Given the description of an element on the screen output the (x, y) to click on. 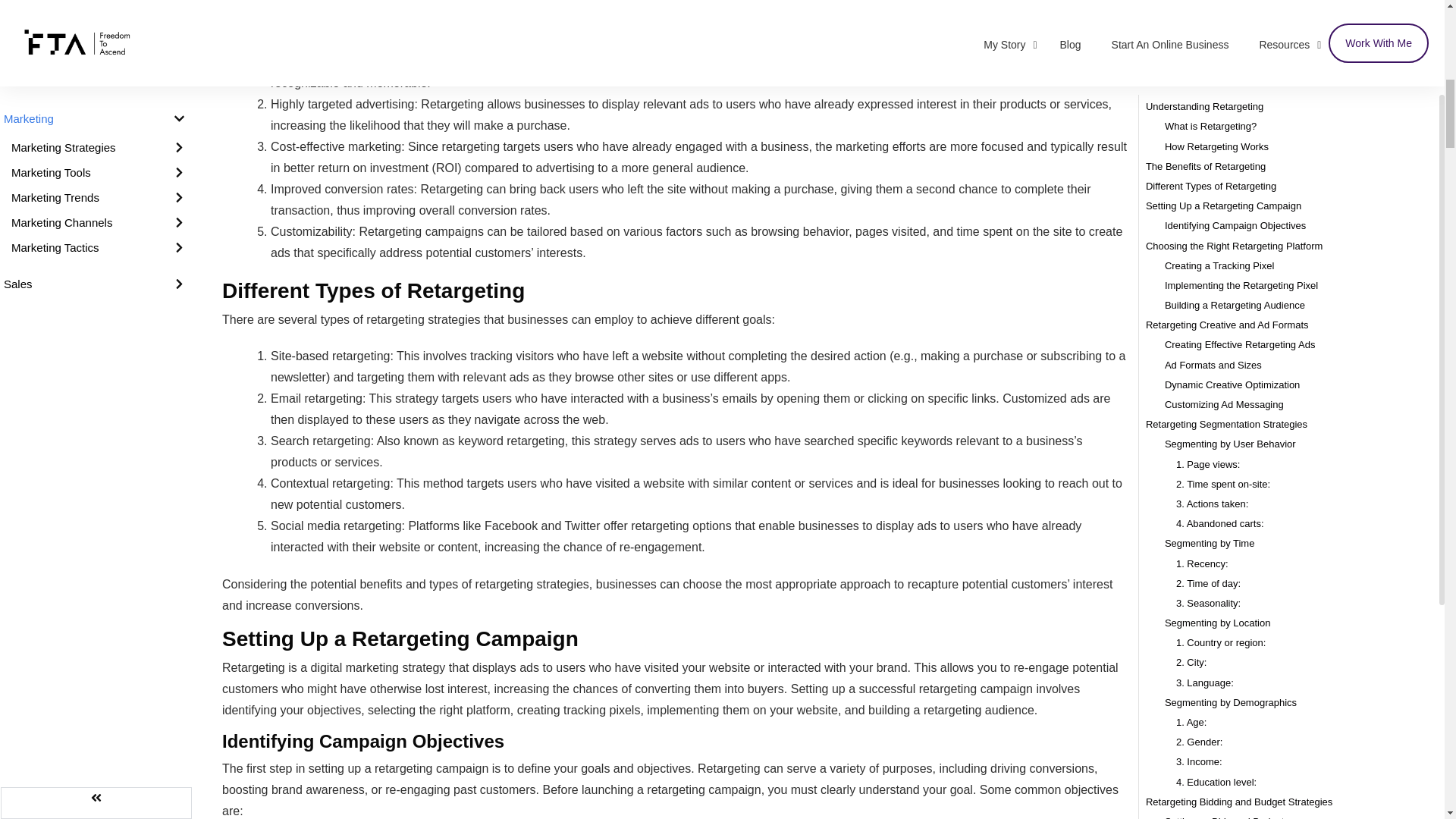
What are some common retargeting optimization strategies? (1292, 340)
Retargeting Optimization Techniques (1225, 82)
Setting up Bids and Budget (1224, 4)
Utilizing Analytics for Continuous Improvement (1266, 241)
What is retargeting optimization in digital marketing? (1278, 281)
Landing Page Optimization (1223, 121)
Frequency Capping (1207, 62)
Optimization Through Lookalike Audiences (1257, 161)
Attribution Models (1203, 201)
Ad Scheduling and Timing (1221, 141)
